Given the description of an element on the screen output the (x, y) to click on. 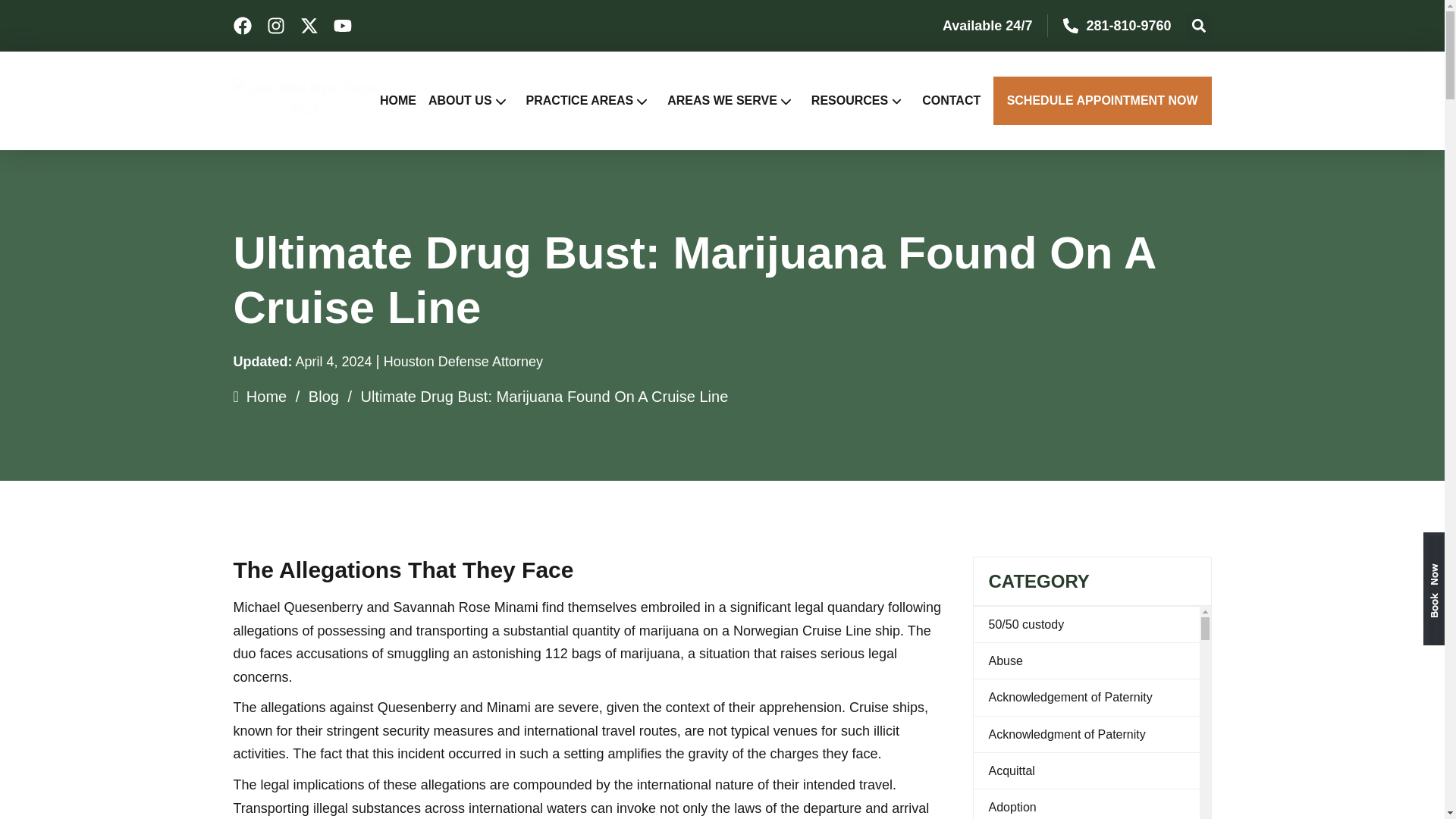
PRACTICE AREAS (596, 100)
ABOUT US (476, 100)
HOME (404, 100)
281-810-9760 (1128, 25)
